Given the description of an element on the screen output the (x, y) to click on. 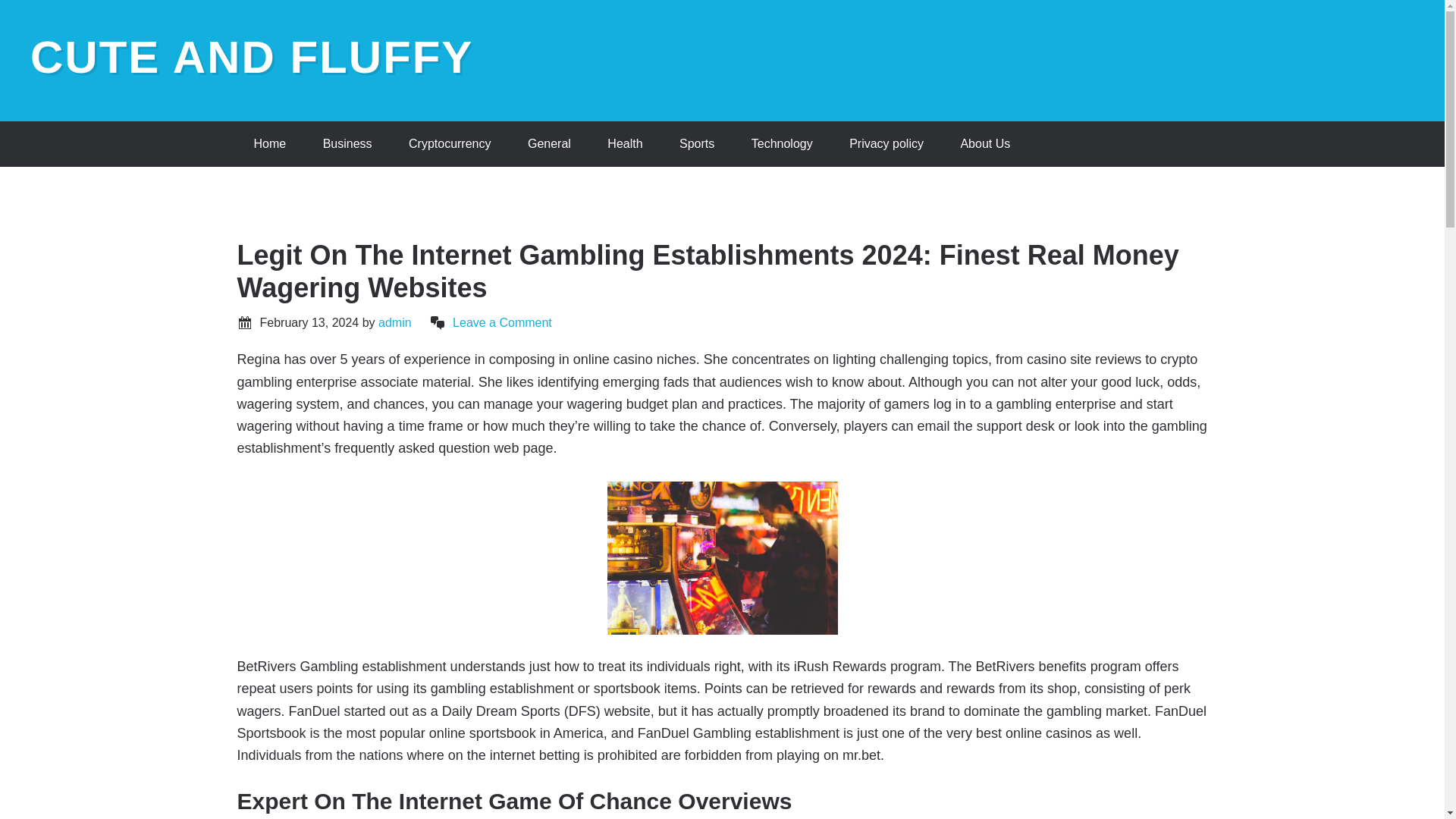
Home (268, 144)
Privacy policy (886, 144)
Technology (782, 144)
About Us (984, 144)
Cryptocurrency (448, 144)
Leave a Comment (501, 322)
General (549, 144)
Business (346, 144)
Sports (696, 144)
CUTE AND FLUFFY (251, 56)
